Given the description of an element on the screen output the (x, y) to click on. 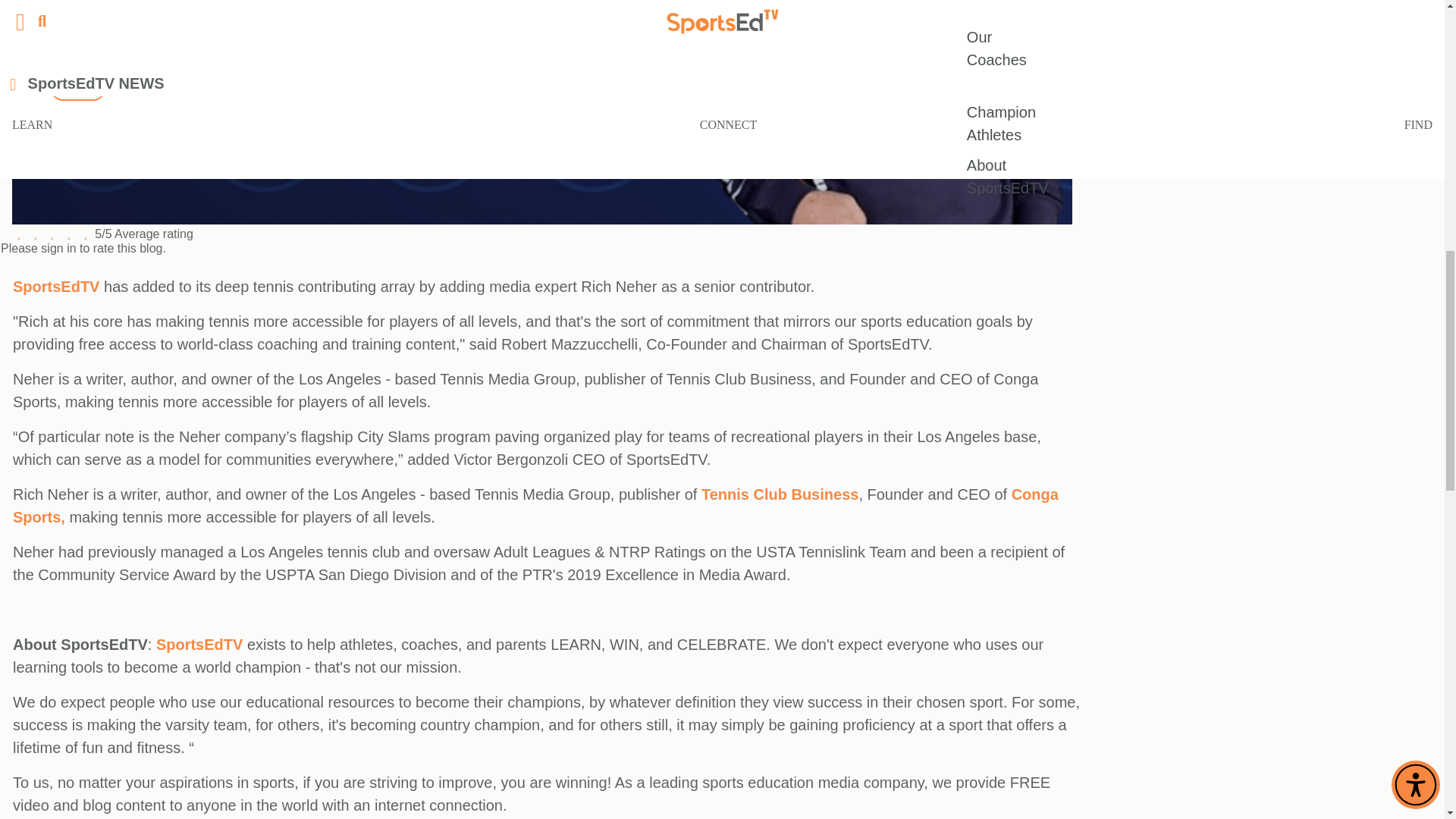
SportsEdTV (56, 286)
SportsEdTV (199, 644)
Conga Sports, (535, 505)
Tennis Club Business (780, 494)
